Given the description of an element on the screen output the (x, y) to click on. 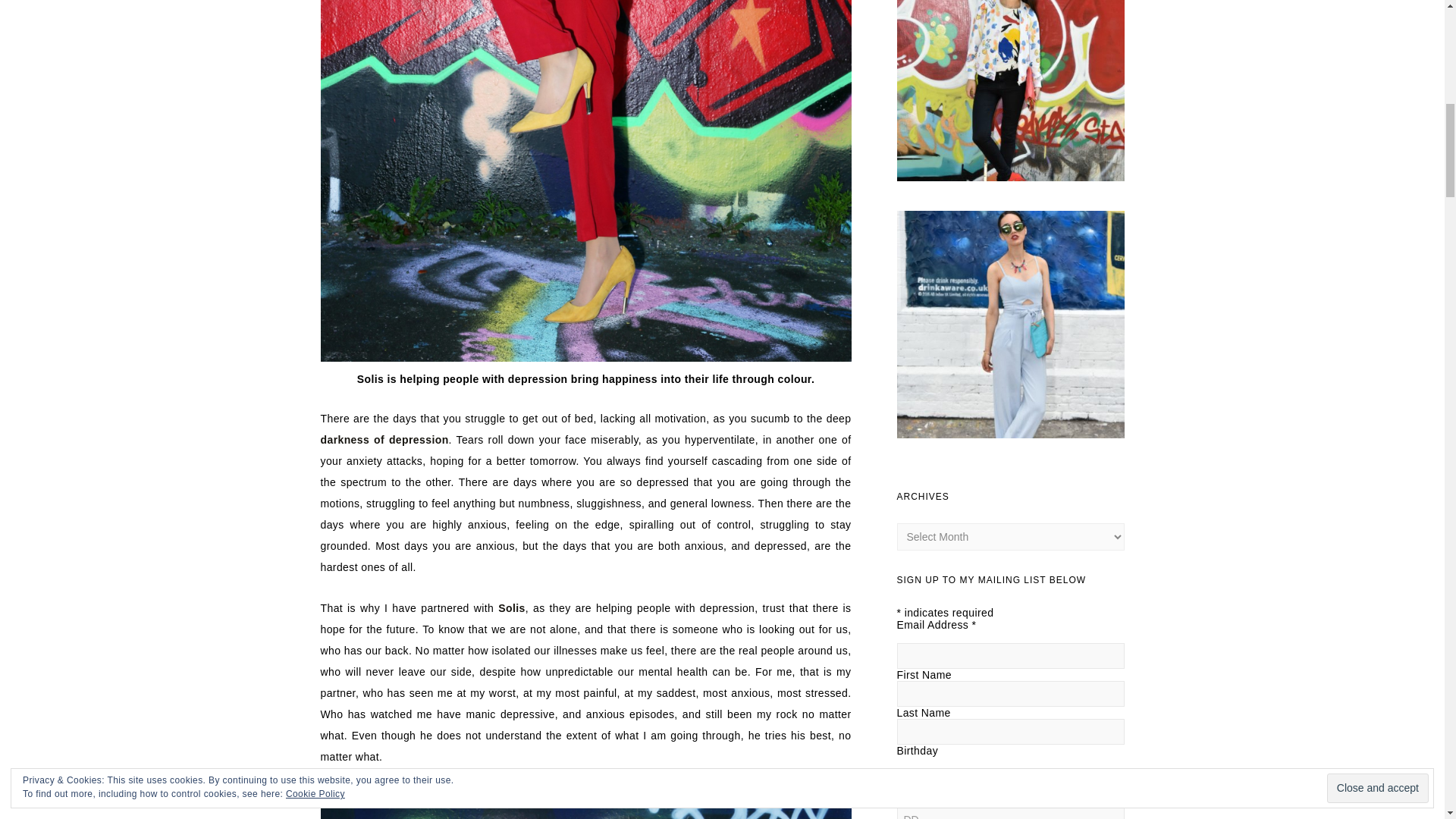
Solis (510, 607)
darkness of depression (384, 439)
